Given the description of an element on the screen output the (x, y) to click on. 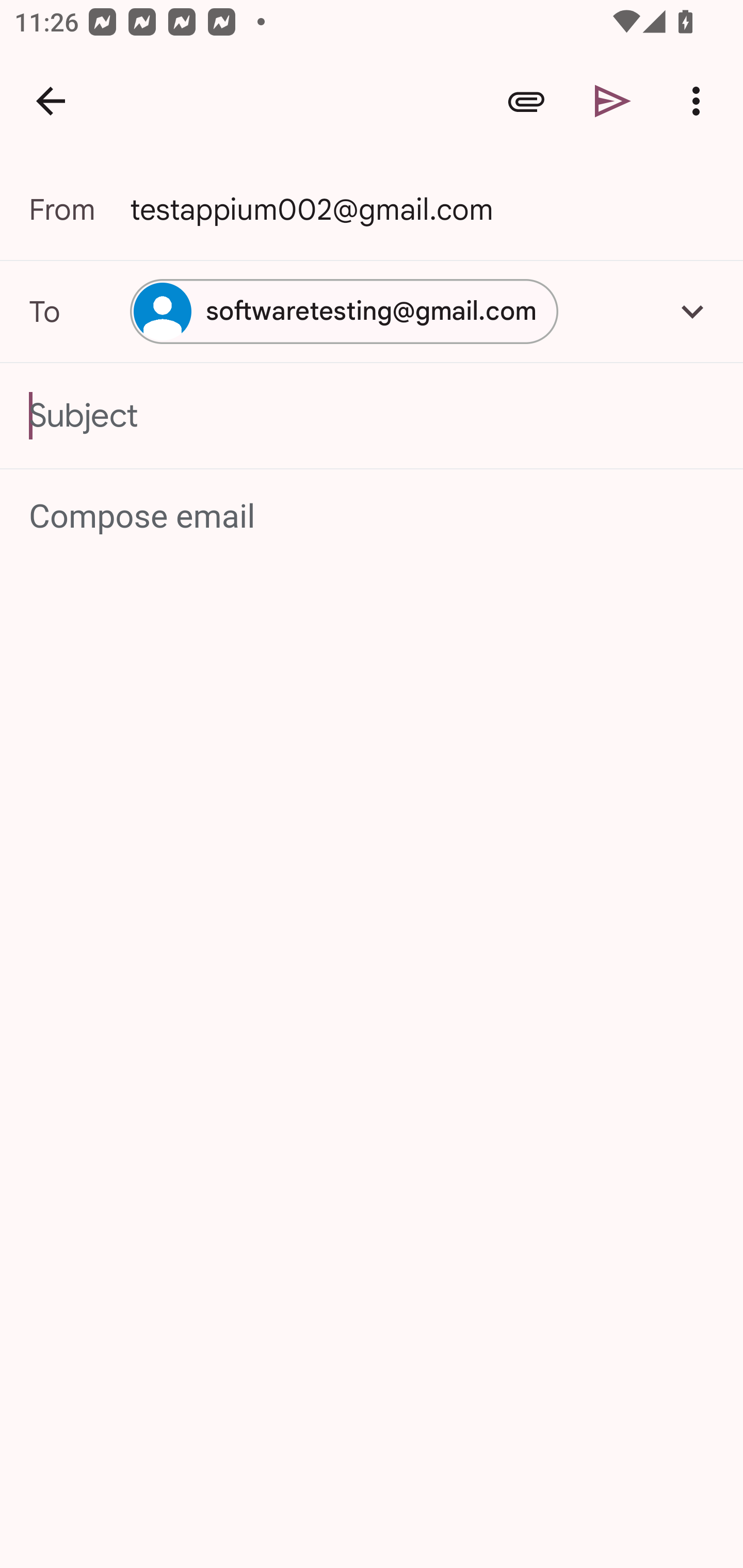
Navigate up (50, 101)
Attach file (525, 101)
Send (612, 101)
More options (699, 101)
From (79, 209)
Add Cc/Bcc (692, 311)
Subject (371, 415)
Compose email (372, 517)
